Given the description of an element on the screen output the (x, y) to click on. 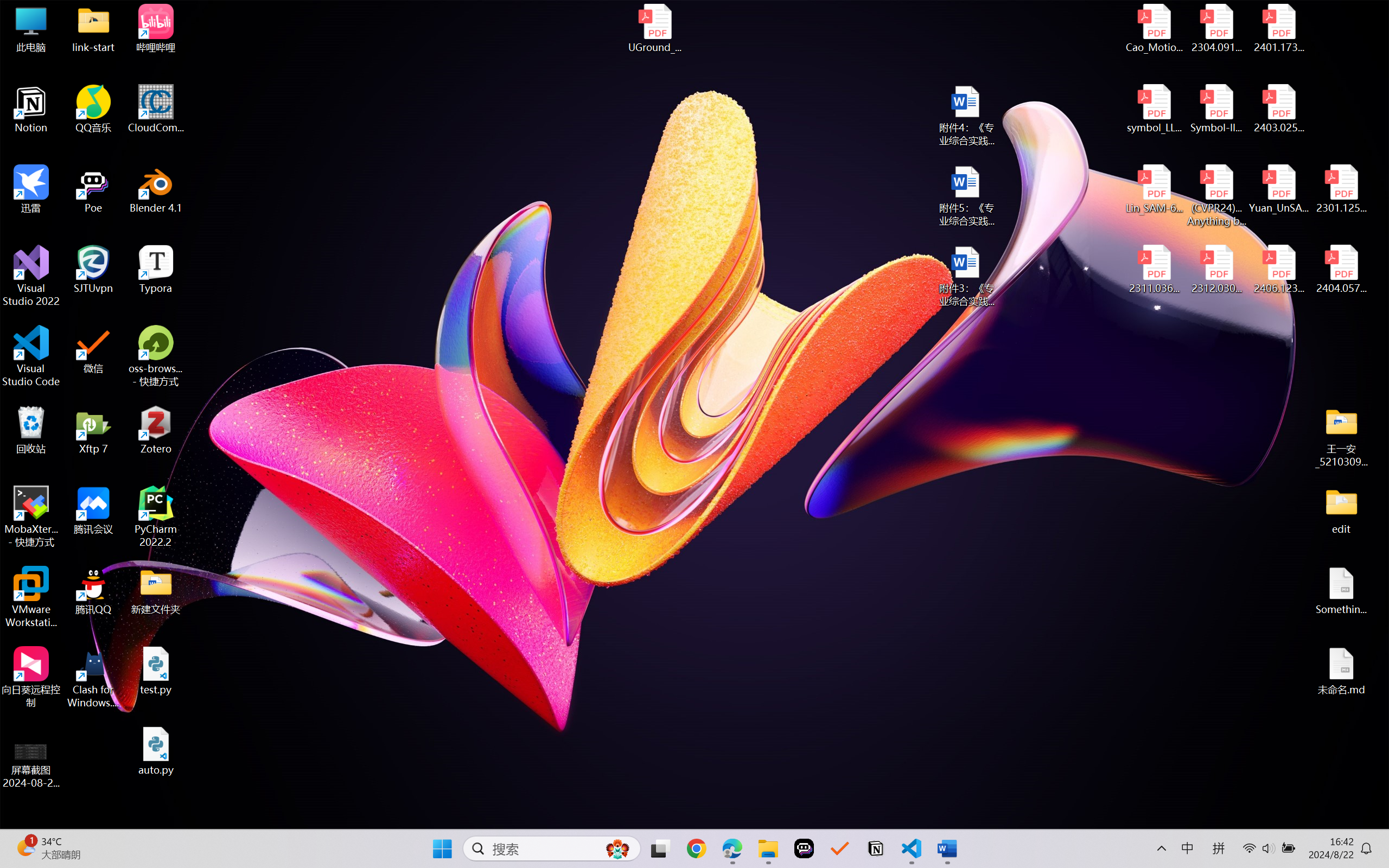
2401.17399v1.pdf (1278, 28)
Typora (156, 269)
SJTUvpn (93, 269)
auto.py (156, 751)
Google Chrome (696, 848)
Blender 4.1 (156, 189)
